Given the description of an element on the screen output the (x, y) to click on. 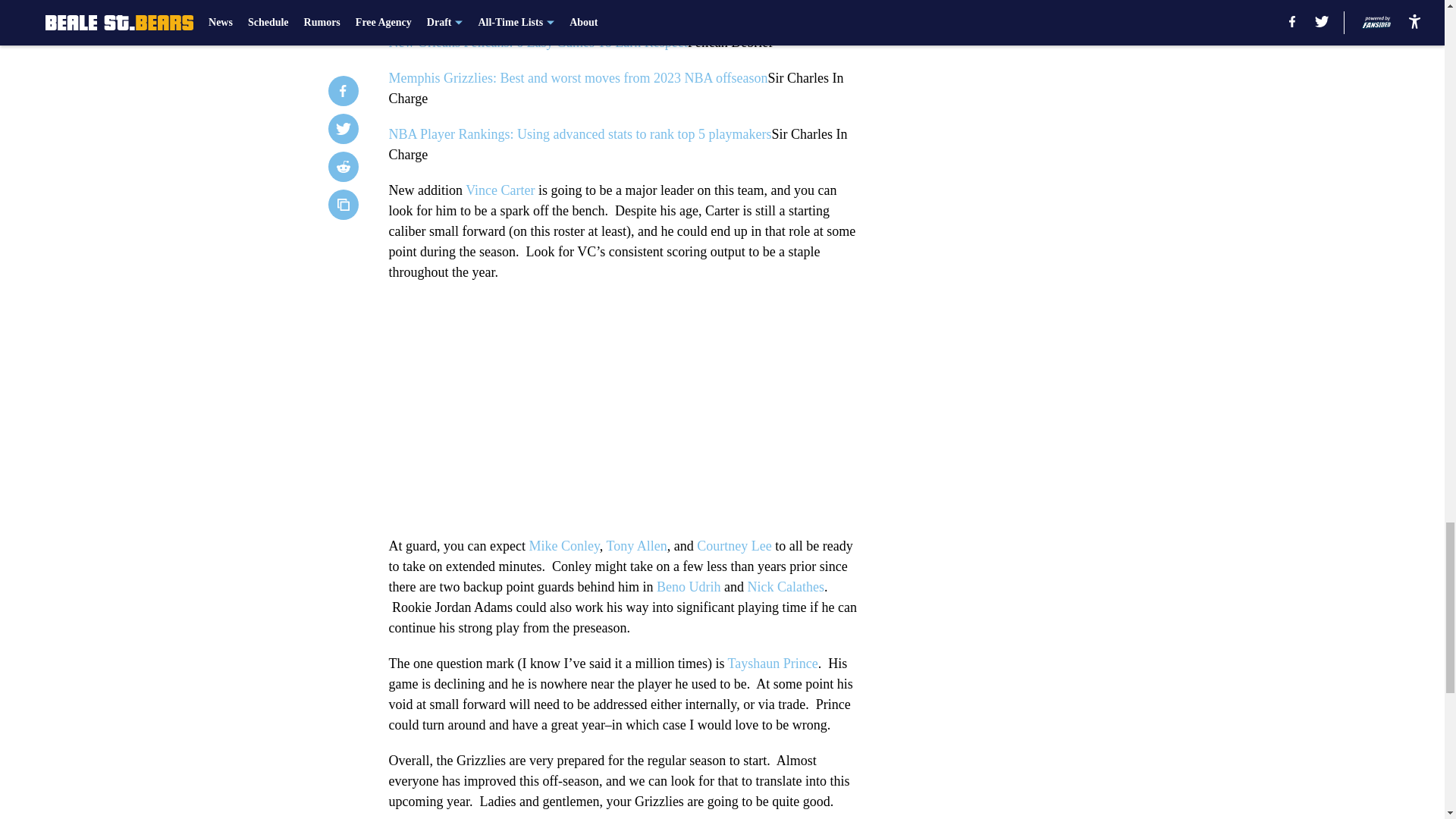
Vince Carter (499, 189)
Mike Conley (563, 545)
New Orleans Pelicans: 6 Easy Games To Earn Respect (537, 42)
Tony Allen (635, 545)
